Given the description of an element on the screen output the (x, y) to click on. 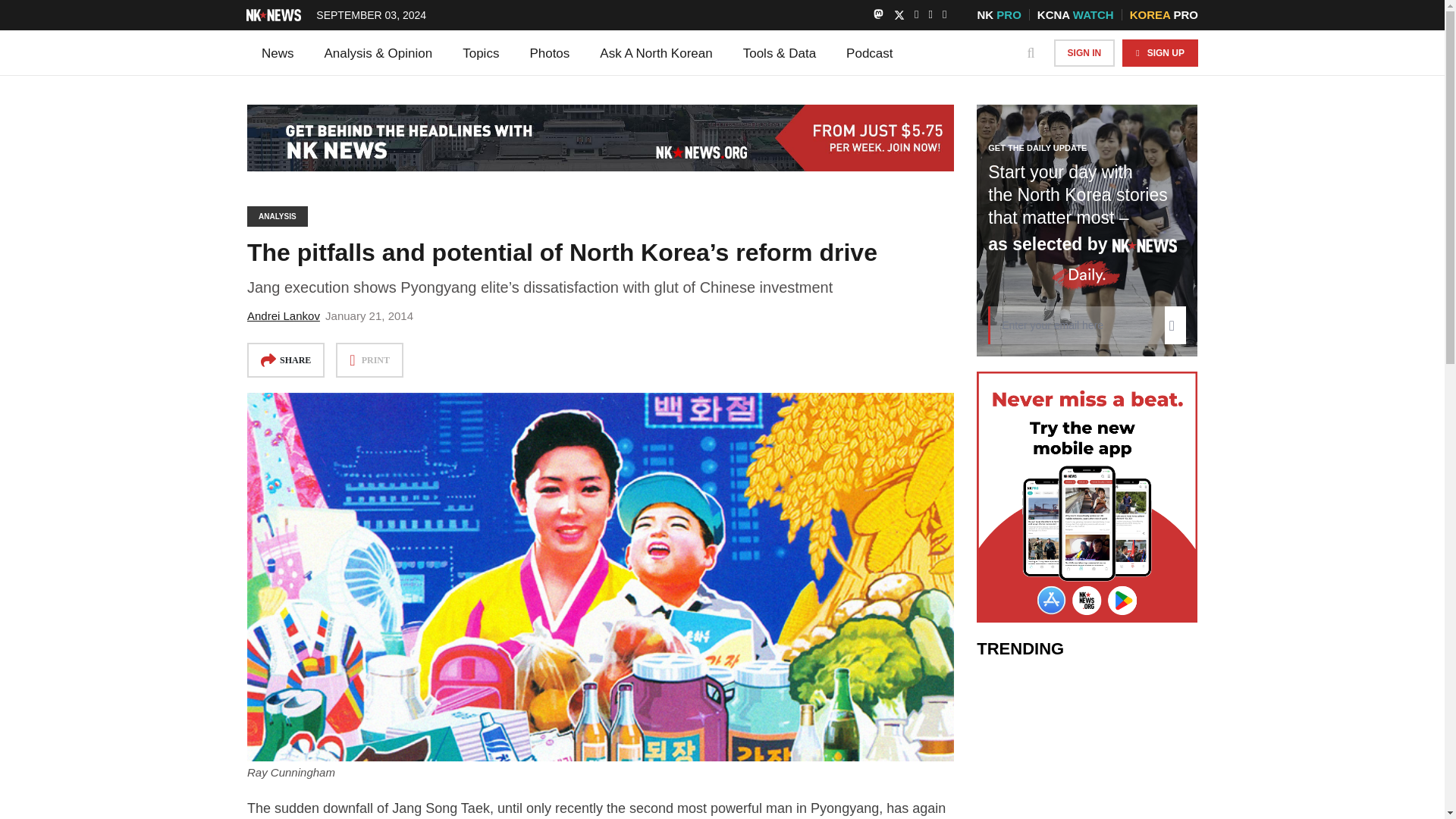
KOREA PRO (1163, 14)
KCNA WATCH (1074, 14)
NK PRO (998, 14)
